Given the description of an element on the screen output the (x, y) to click on. 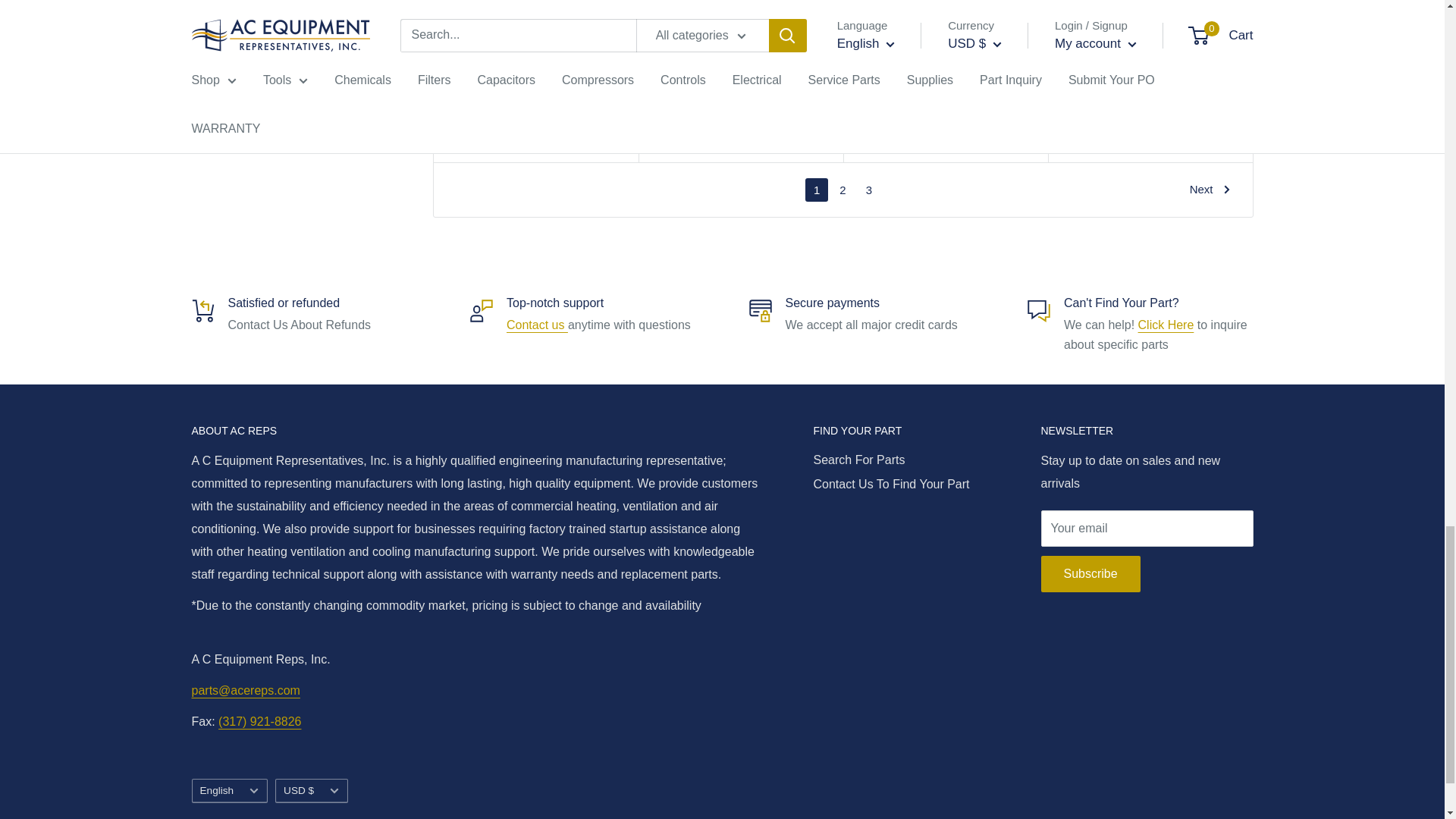
Parts Inquiry (1165, 324)
Navigate to page 2 (842, 189)
tel:3179218826 (259, 721)
Navigate to page 3 (868, 189)
Next (1209, 189)
